Given the description of an element on the screen output the (x, y) to click on. 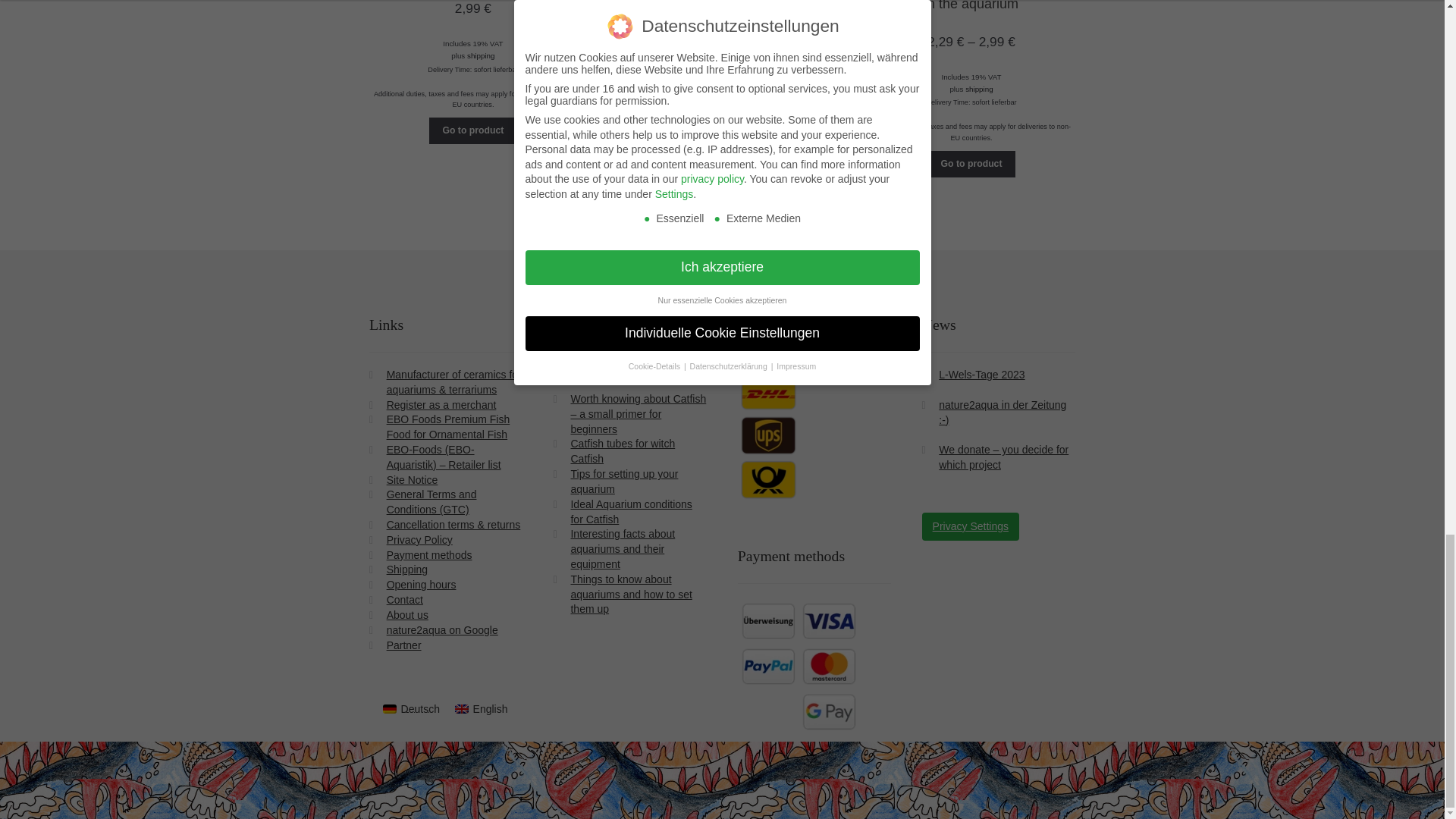
Paymethodes (798, 665)
